Given the description of an element on the screen output the (x, y) to click on. 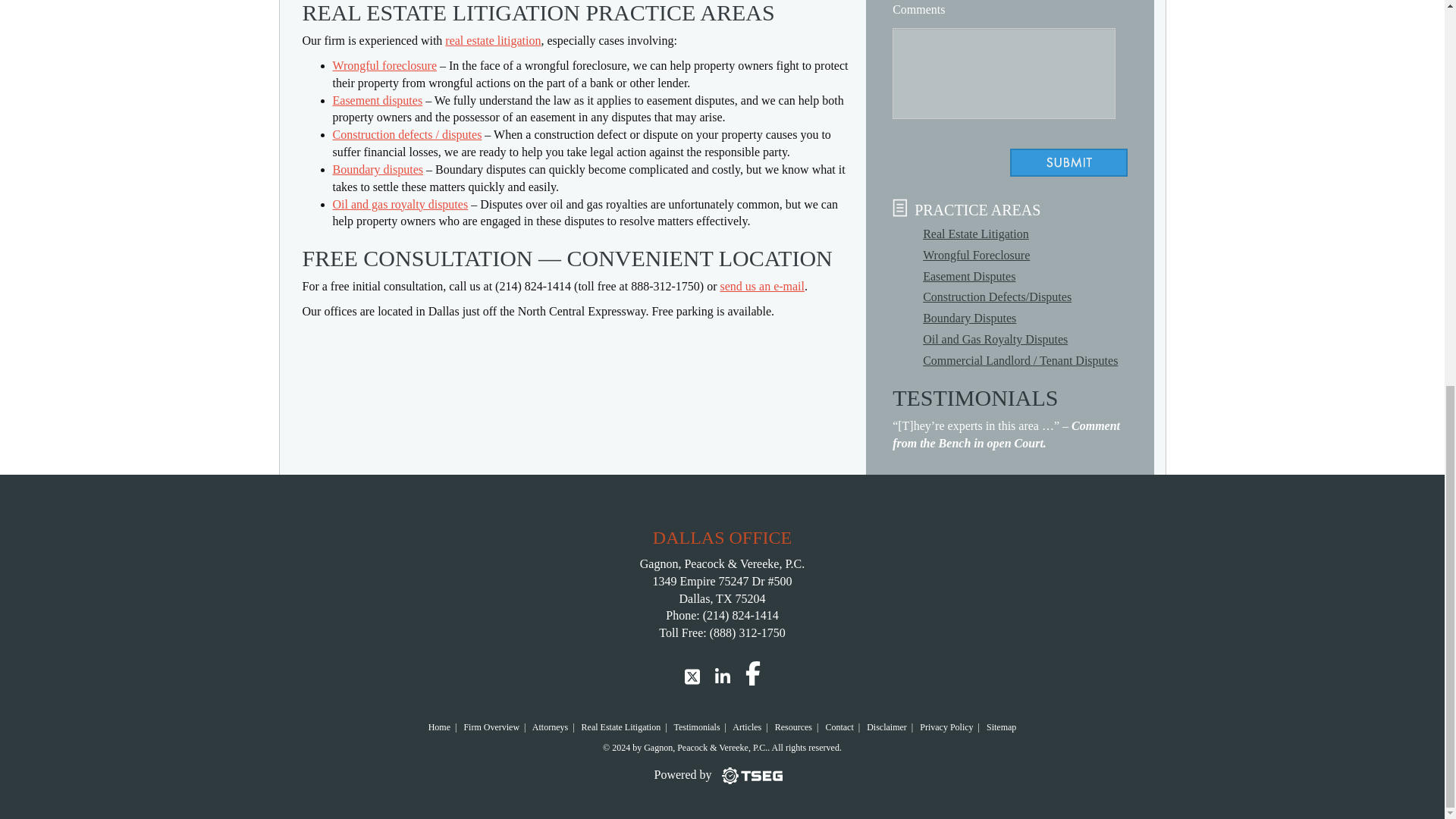
real estate litigation (492, 40)
send us an e-mail (762, 286)
Oil and gas royalty disputes (399, 204)
Easement Disputes (968, 276)
Boundary disputes (377, 169)
Oil and Gas Royalty Disputes (995, 338)
Boundary Disputes (969, 318)
Wrongful Foreclosure (976, 254)
Easement disputes (376, 100)
Wrongful foreclosure (383, 65)
